Given the description of an element on the screen output the (x, y) to click on. 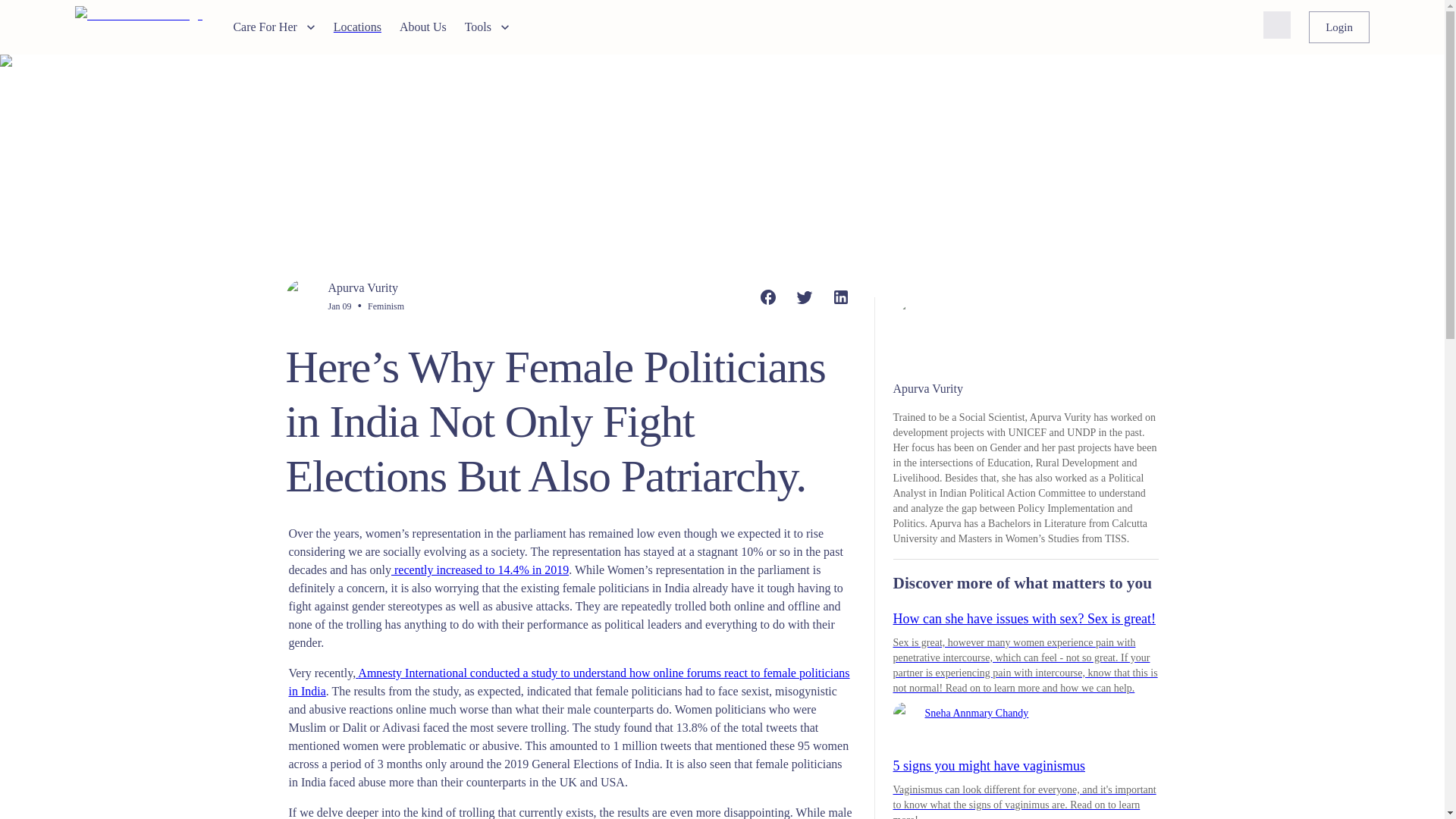
About Us (422, 27)
Login (1339, 27)
Care For Her (273, 27)
Tools (486, 27)
Locations (357, 27)
